Given the description of an element on the screen output the (x, y) to click on. 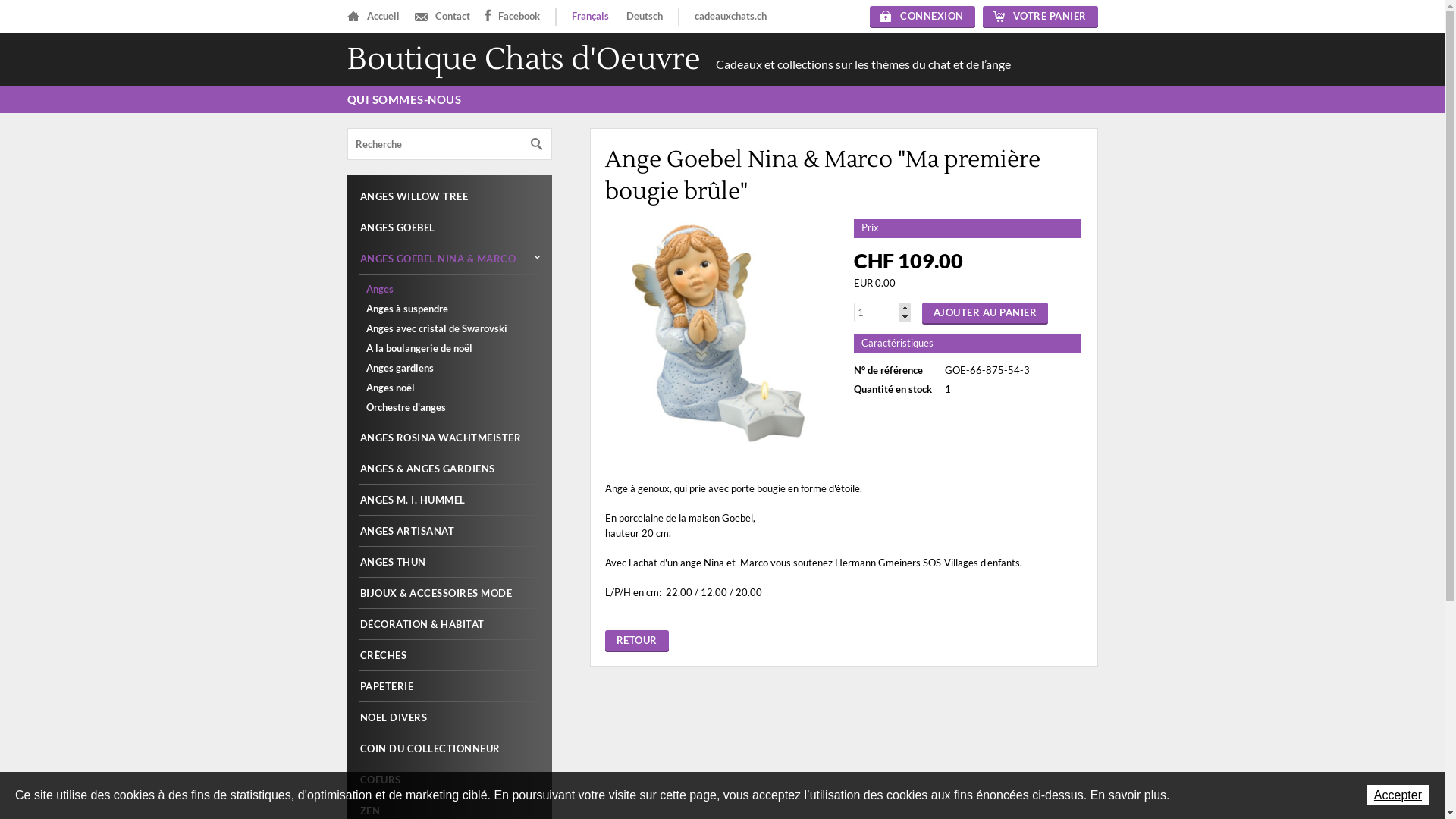
Anges gardiens Element type: text (448, 367)
ANGES GOEBEL NINA & MARCO Element type: text (448, 257)
Accueil Element type: text (373, 16)
CONNEXION Element type: text (922, 16)
ANGES ARTISANAT Element type: text (448, 530)
- Element type: text (904, 317)
RETOUR Element type: text (636, 639)
ANGES WILLOW TREE Element type: text (448, 195)
BIJOUX & ACCESSOIRES MODE Element type: text (448, 592)
Anges Element type: text (448, 288)
NOEL DIVERS Element type: text (448, 717)
ANGES M. I. HUMMEL Element type: text (448, 498)
cadeauxchats.ch Element type: text (730, 16)
RECHERCHER Element type: text (536, 144)
ANGES GOEBEL Element type: text (448, 227)
AJOUTER AU PANIER Element type: text (985, 311)
PAPETERIE Element type: text (448, 685)
Orchestre d'anges Element type: text (448, 407)
Boutique Chats d'Oeuvre Element type: text (523, 58)
Facebook Element type: text (512, 16)
Contact Element type: text (441, 16)
ANGES & ANGES GARDIENS Element type: text (448, 468)
QUI SOMMES-NOUS Element type: text (404, 99)
Accepter Element type: text (1397, 794)
Anges avec cristal de Swarovski Element type: text (448, 328)
ANGES ROSINA WACHTMEISTER Element type: text (448, 436)
COIN DU COLLECTIONNEUR Element type: text (448, 747)
ANGES THUN Element type: text (448, 561)
VOTRE PANIER Element type: text (1040, 16)
COEURS Element type: text (448, 779)
+ Element type: text (904, 306)
Deutsch Element type: text (644, 15)
